Given the description of an element on the screen output the (x, y) to click on. 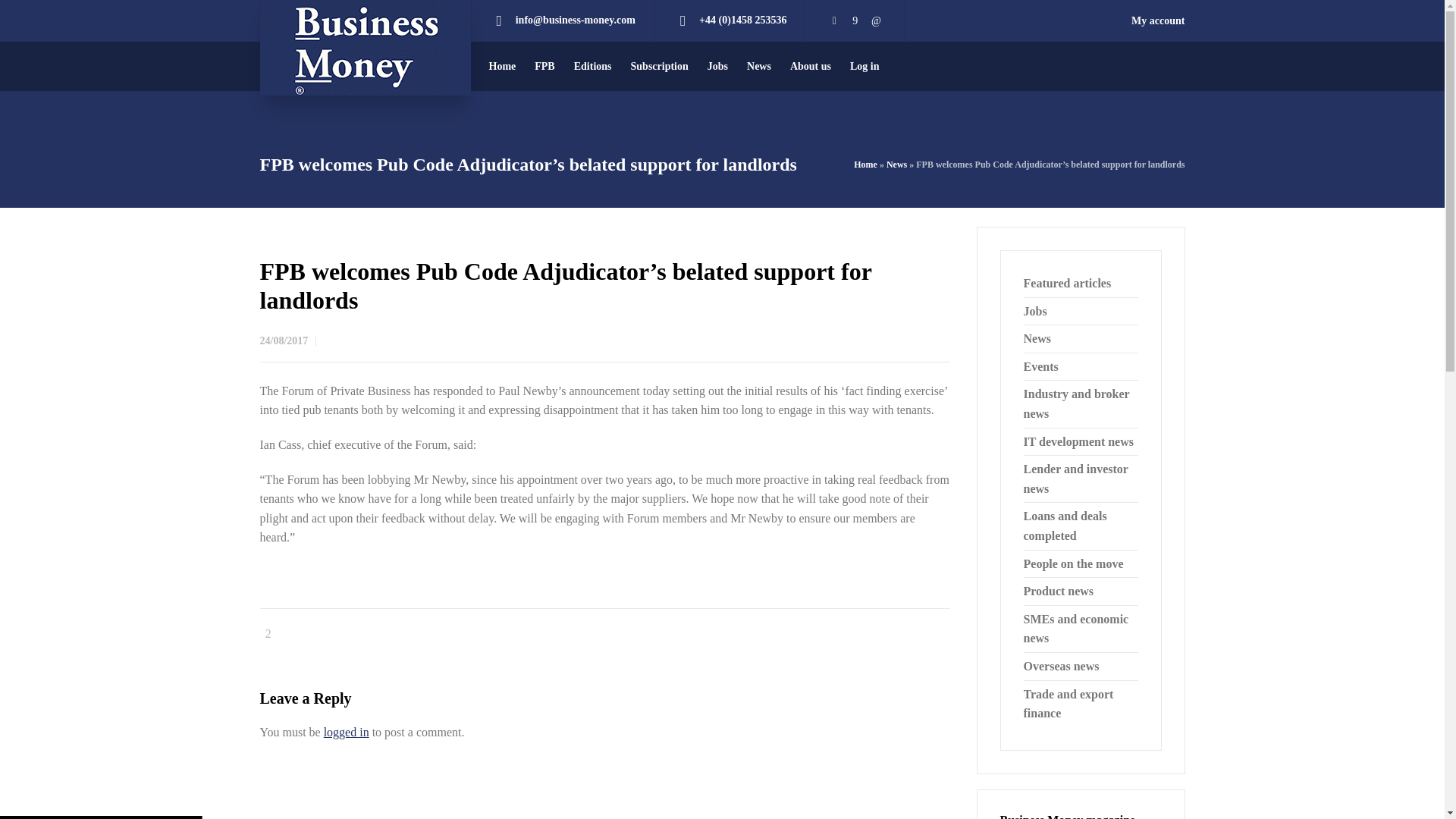
click to call (742, 19)
Linkedin (876, 20)
About us (810, 65)
Subscription (659, 65)
Contact us (574, 19)
Facebook (855, 20)
Log in (865, 65)
Home (502, 65)
My account (1158, 20)
Home (865, 163)
